Given the description of an element on the screen output the (x, y) to click on. 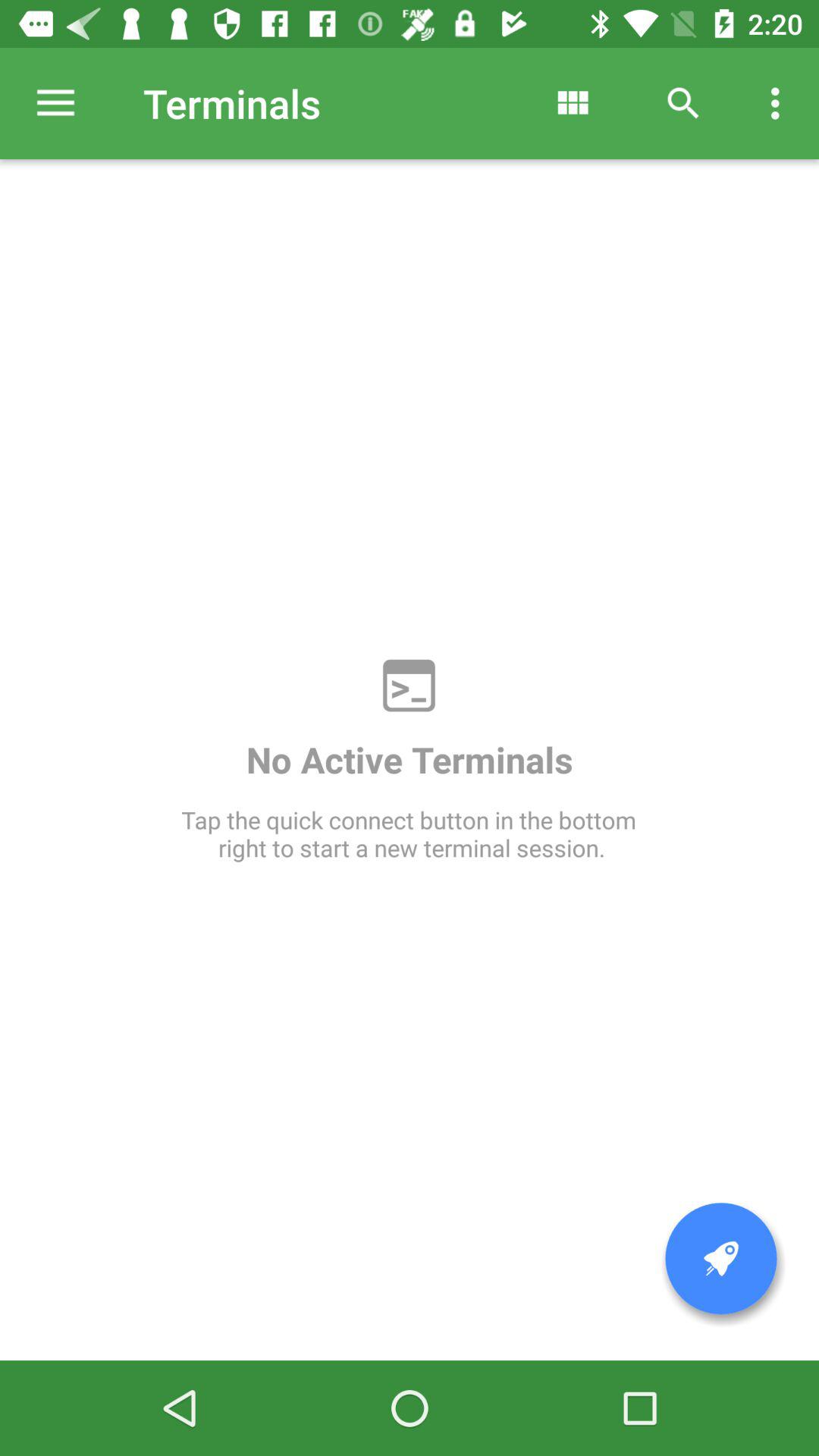
pin the page to front (721, 1258)
